Given the description of an element on the screen output the (x, y) to click on. 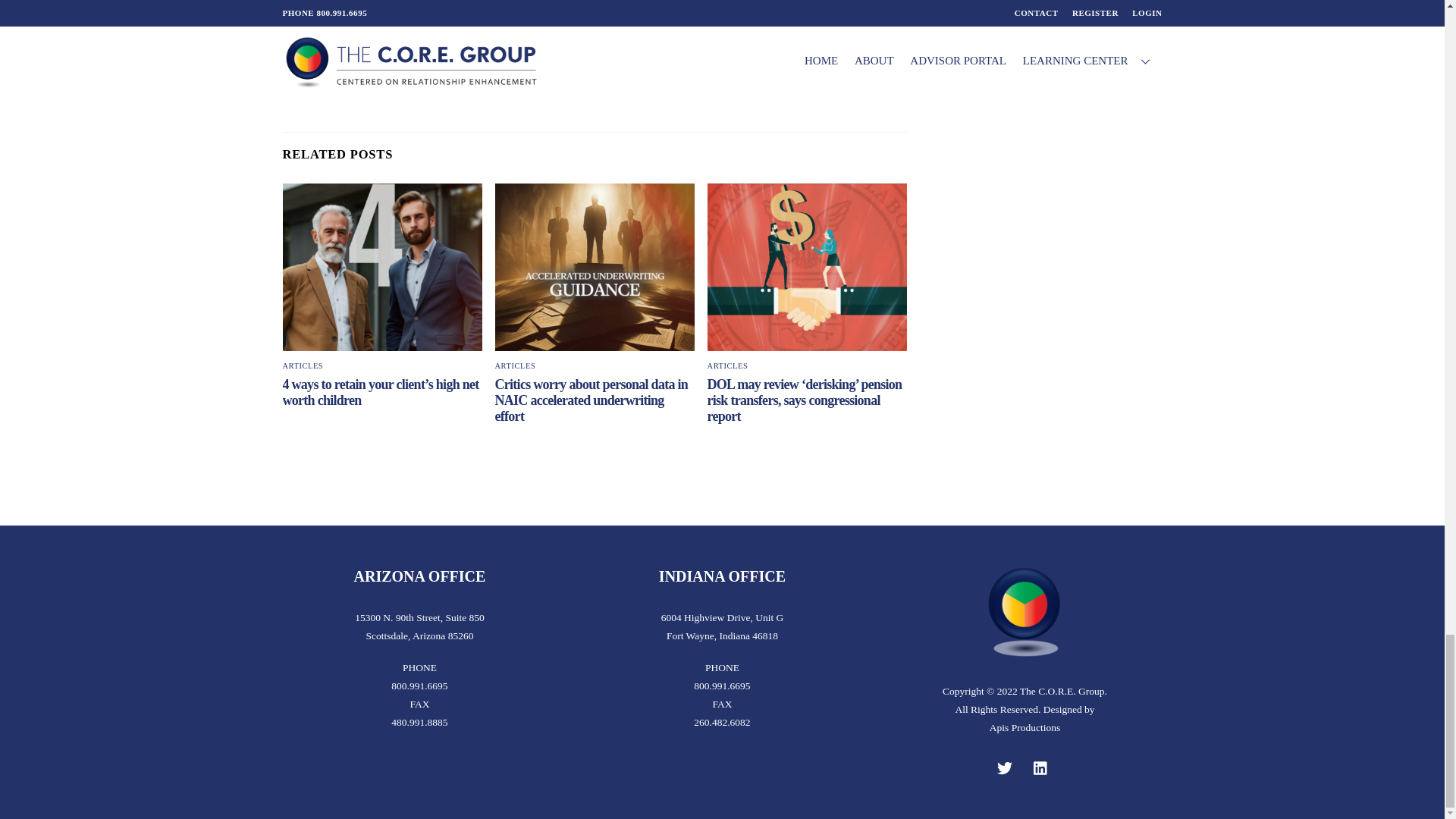
ARTICLES (302, 365)
Three money moves to help women minimize financial stress (464, 9)
Apis Productions (1024, 727)
Level of financial insecurity remains high, study finds (747, 73)
ARTICLES (727, 365)
ARTICLES (515, 365)
